Given the description of an element on the screen output the (x, y) to click on. 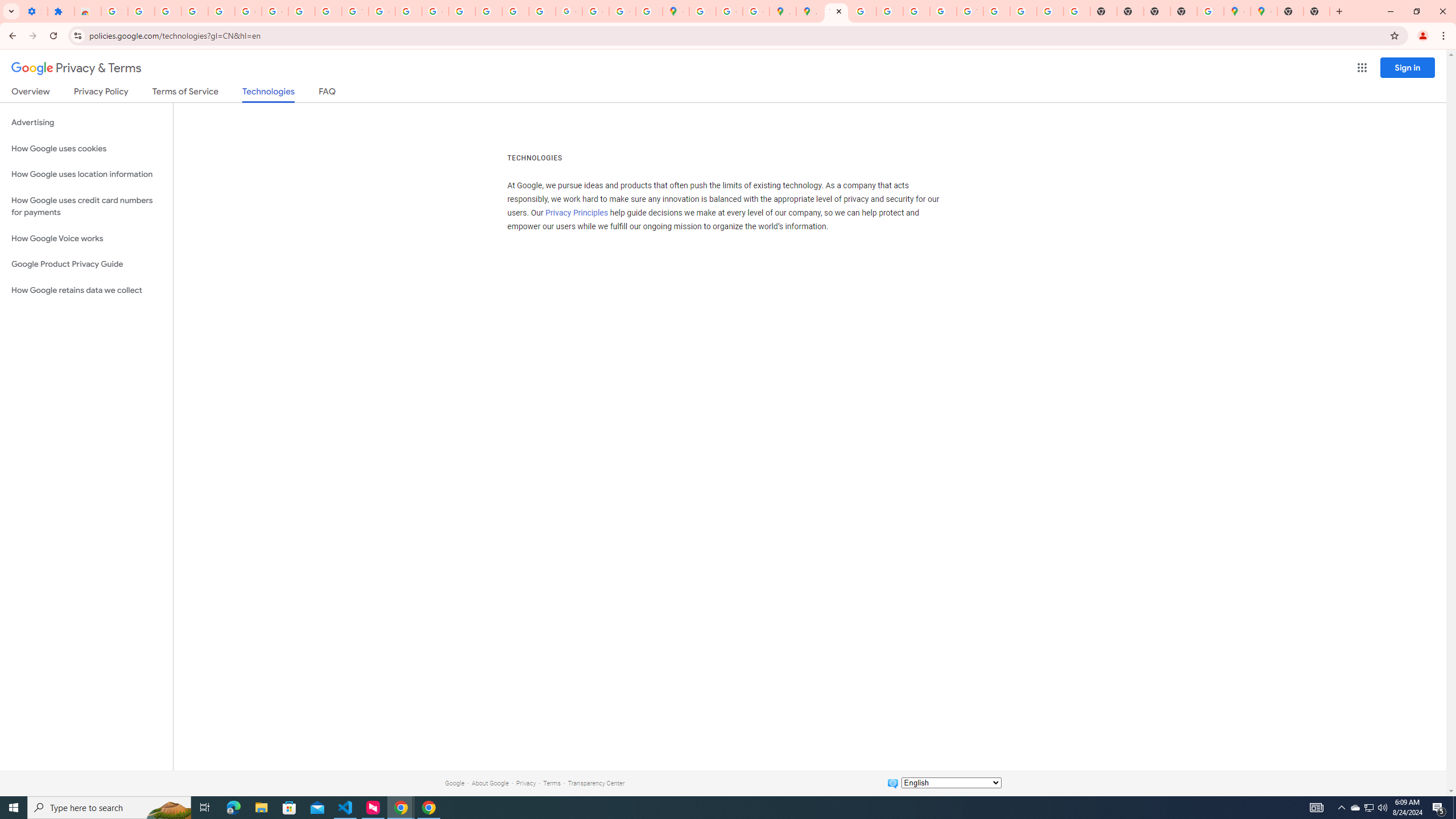
Privacy Help Center - Policies Help (889, 11)
Google Maps (676, 11)
New Tab (1183, 11)
Close (839, 11)
Bookmark this tab (1393, 35)
Forward (32, 35)
YouTube (355, 11)
Change language: (951, 782)
Google Account Help (275, 11)
Settings - On startup (34, 11)
